Given the description of an element on the screen output the (x, y) to click on. 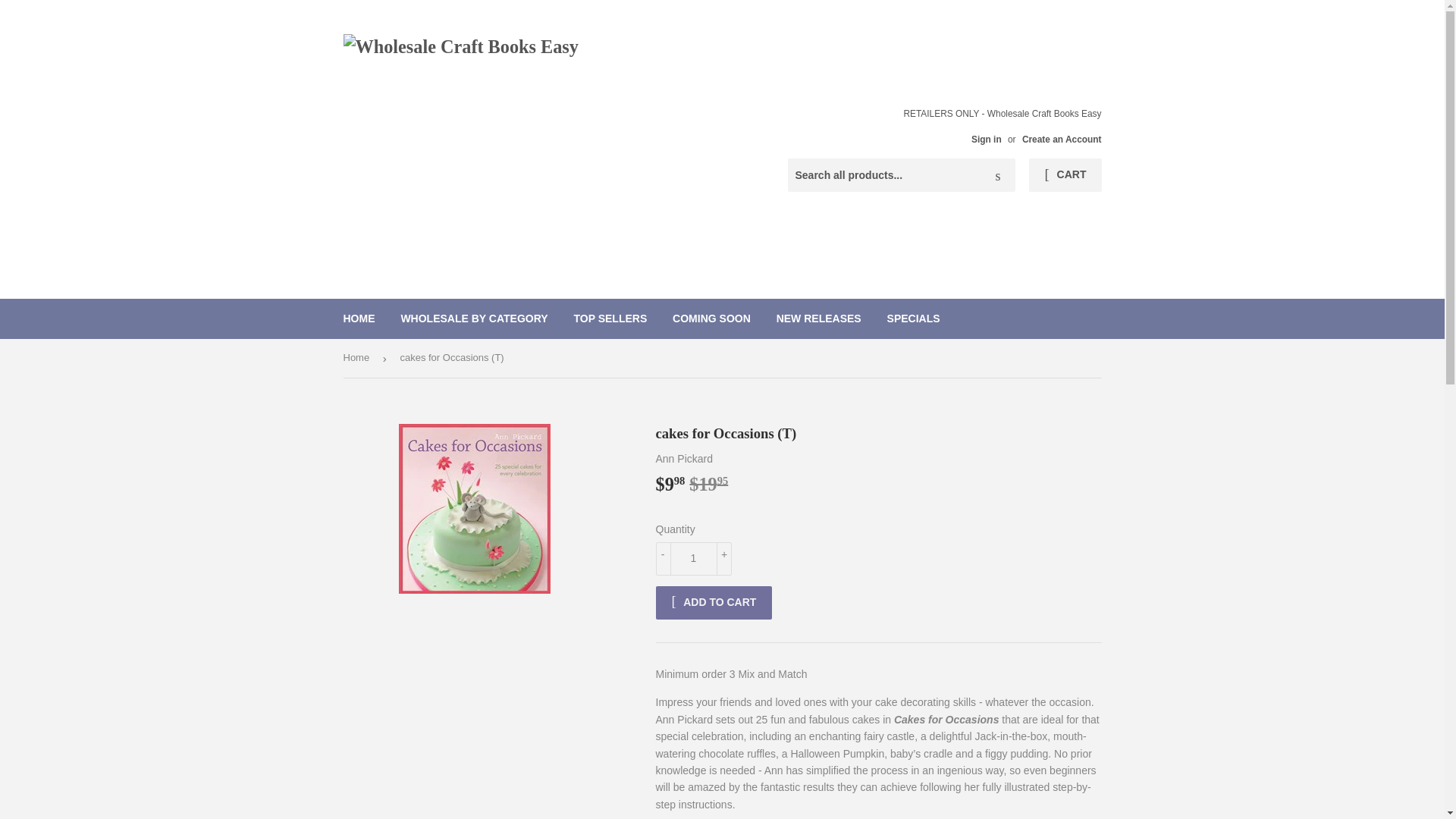
CART (1064, 174)
1 (692, 558)
ADD TO CART (713, 602)
COMING SOON (711, 318)
Search (997, 175)
HOME (359, 318)
Create an Account (1062, 139)
NEW RELEASES (818, 318)
TOP SELLERS (610, 318)
Sign in (986, 139)
SPECIALS (914, 318)
WHOLESALE BY CATEGORY (473, 318)
